Given the description of an element on the screen output the (x, y) to click on. 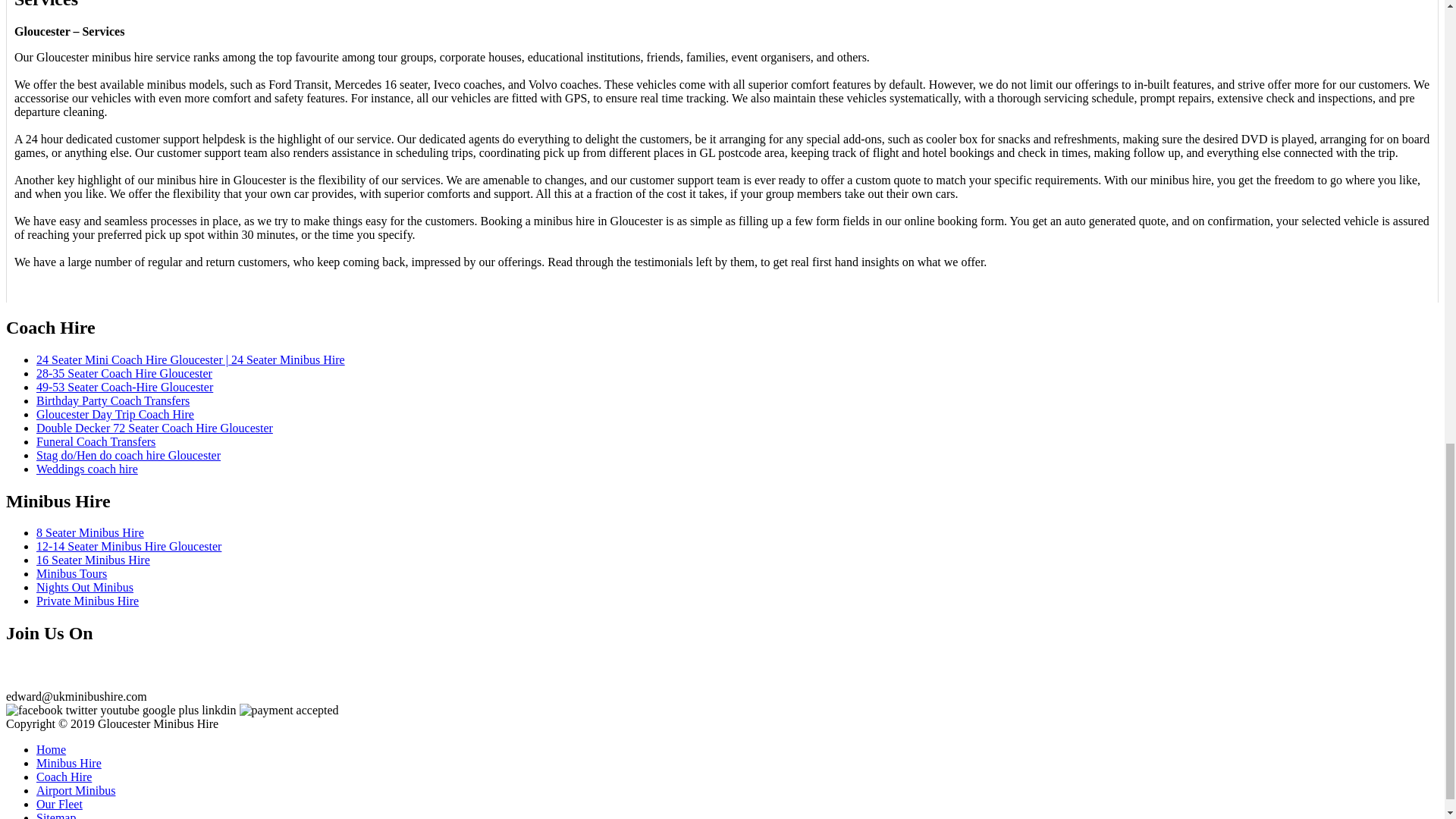
Birthday Party Coach Transfers (112, 400)
28-35 Seater Coach Hire Gloucester (124, 373)
49-53 Seater Coach-Hire Gloucester (124, 386)
